Given the description of an element on the screen output the (x, y) to click on. 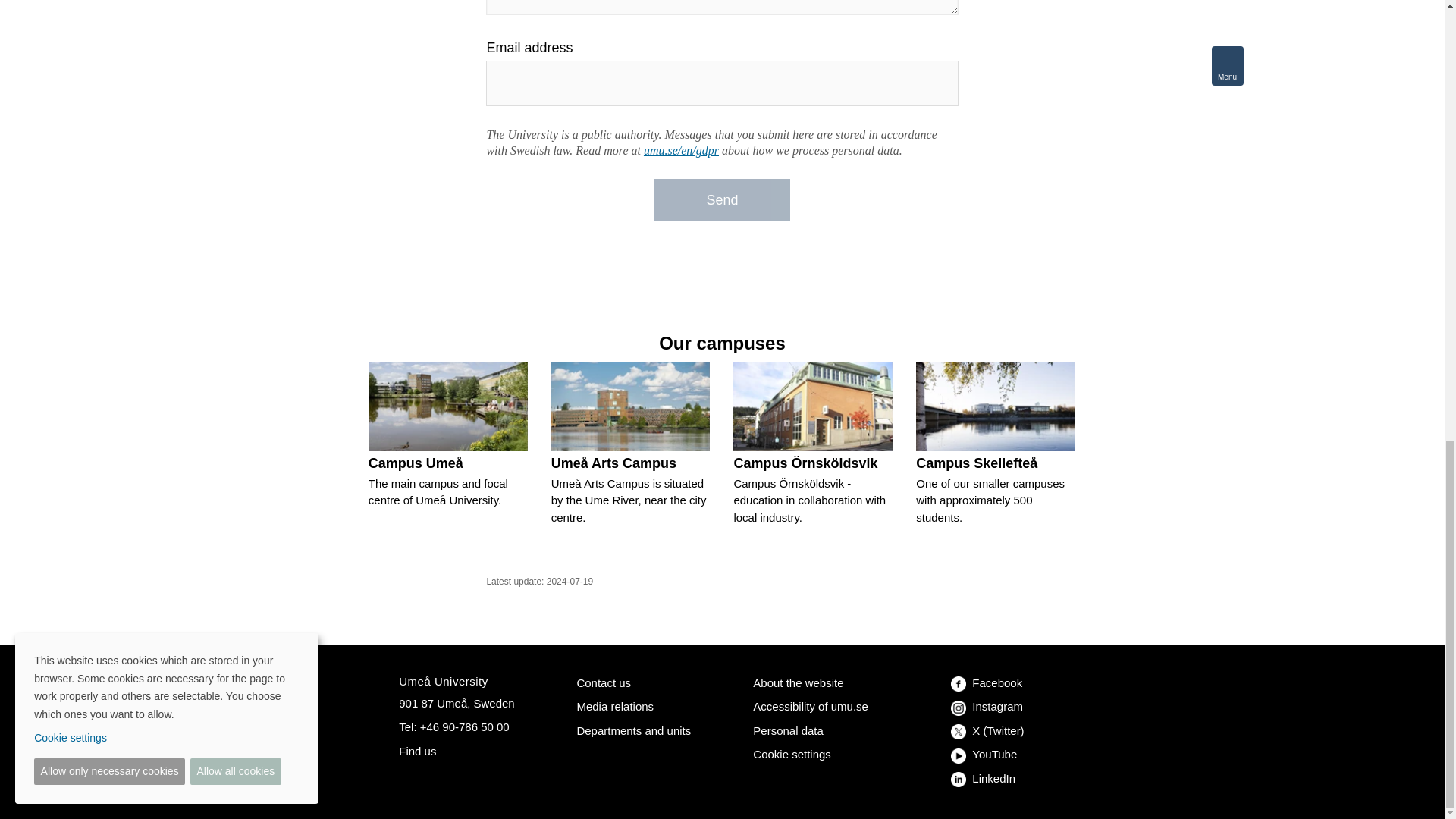
Send (721, 200)
Find us (416, 750)
Media relations (614, 706)
Accessibility of umu.se (809, 706)
About the website (797, 682)
Departments and units (633, 730)
Contact us (603, 682)
